Given the description of an element on the screen output the (x, y) to click on. 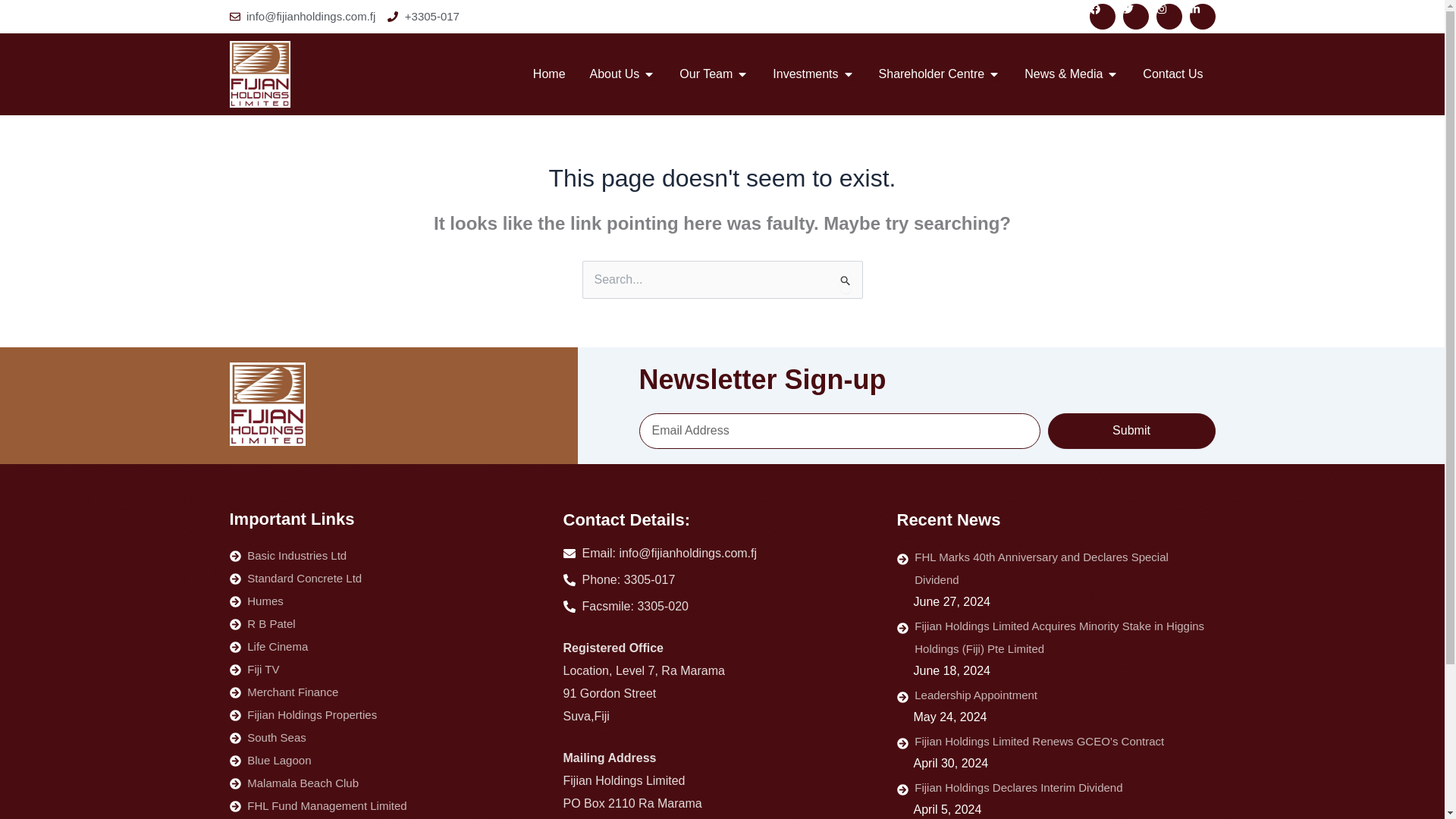
Shareholder Centre (932, 74)
Contact Us (1172, 74)
Open Shareholder Centre (994, 73)
Investments (805, 74)
About Us (614, 74)
Open About Us (649, 73)
Our Team (705, 74)
Instagram (1168, 16)
Open Our Team (742, 73)
Linkedin-in (1201, 16)
Facebook (1102, 16)
Twitter (1135, 16)
Open Investments (848, 73)
Home (549, 74)
